Given the description of an element on the screen output the (x, y) to click on. 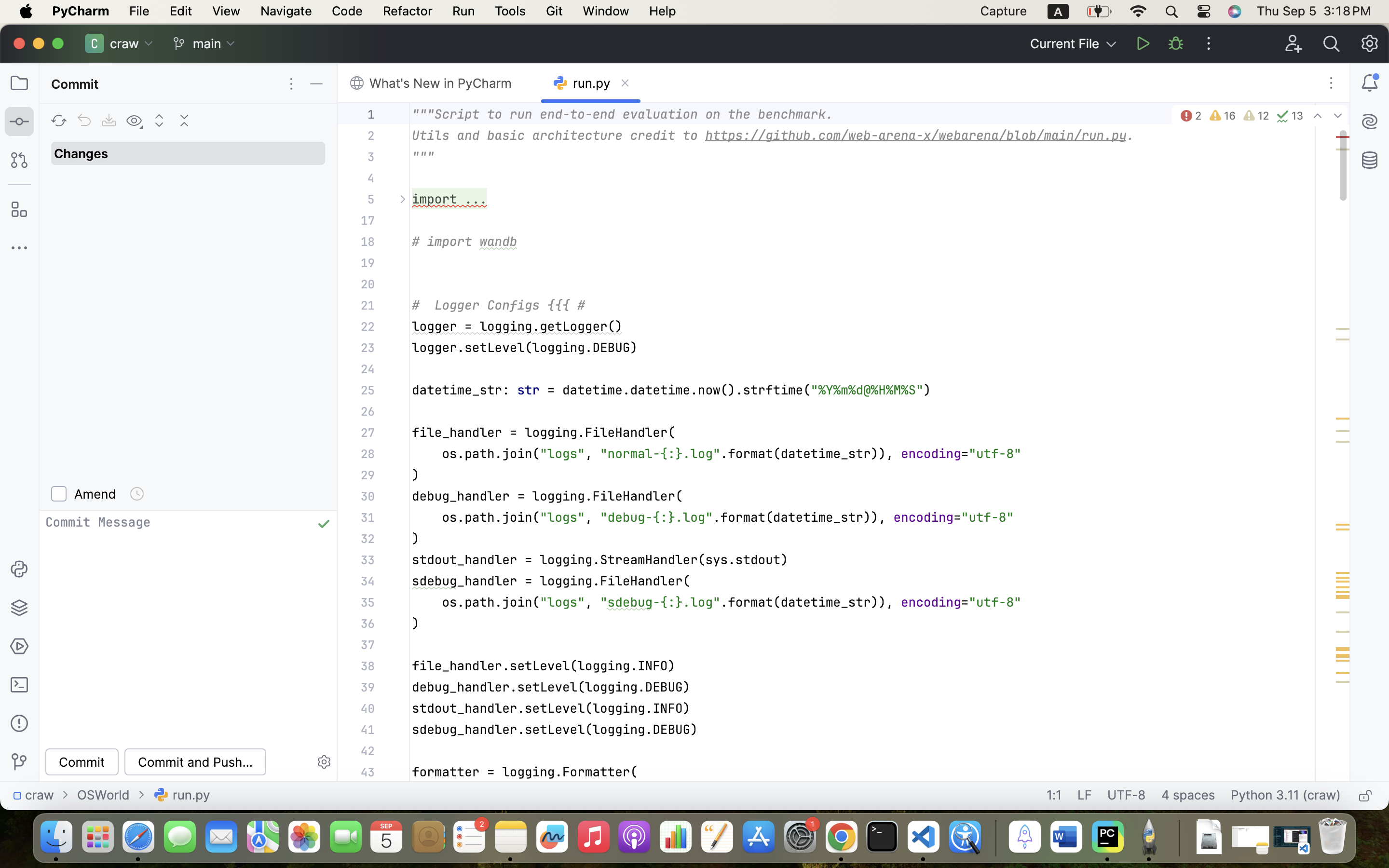
0 Element type: AXStaticText (81, 152)
Python 3.11 (craw) Element type: AXStaticText (1285, 796)
0 Element type: AXGroup (159, 43)
LF Element type: AXStaticText (1084, 796)
0.4285714328289032 Element type: AXDockItem (993, 837)
